Given the description of an element on the screen output the (x, y) to click on. 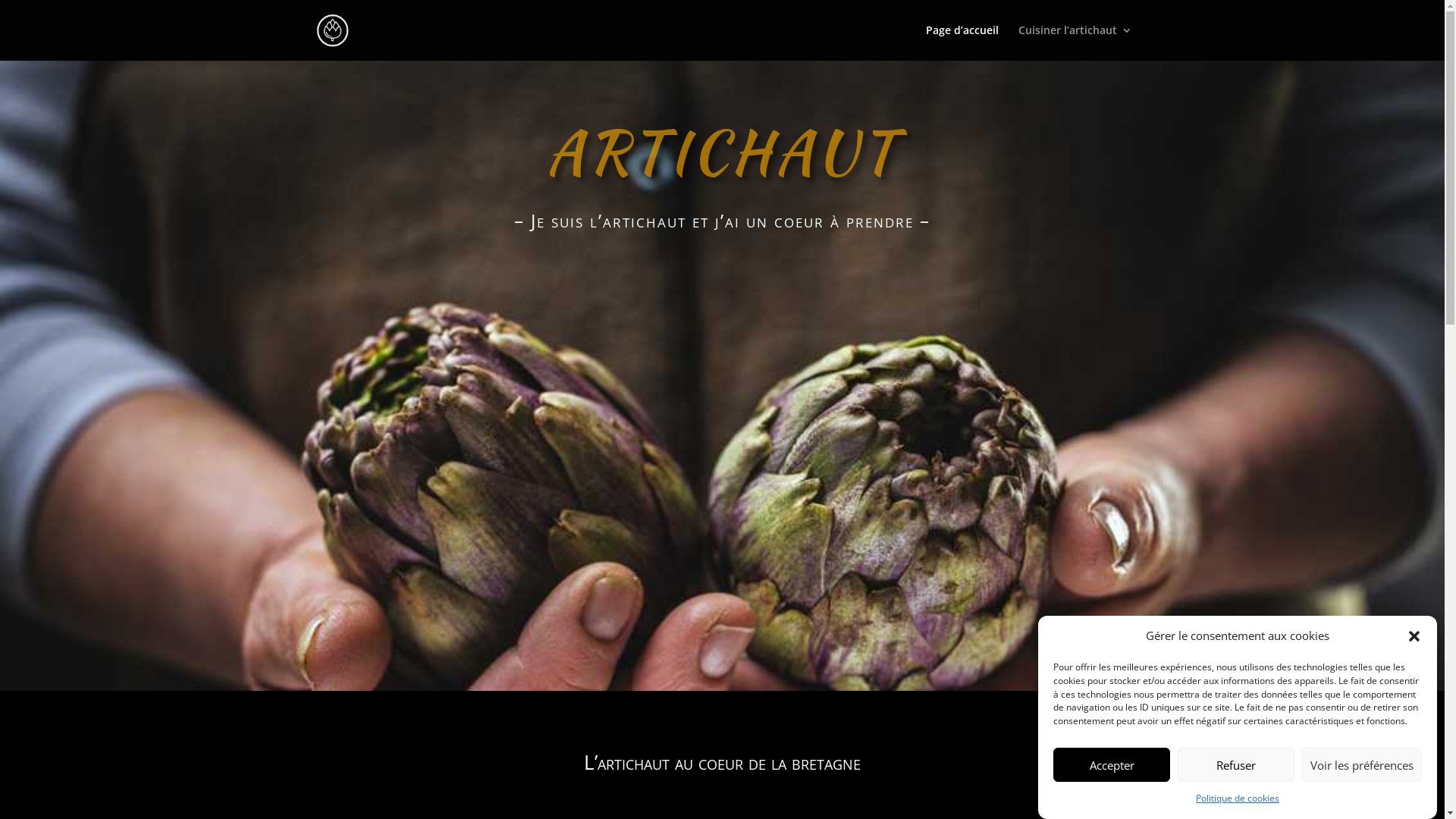
Refuser Element type: text (1235, 764)
Accepter Element type: text (1111, 764)
Politique de cookies Element type: text (1237, 798)
